Given the description of an element on the screen output the (x, y) to click on. 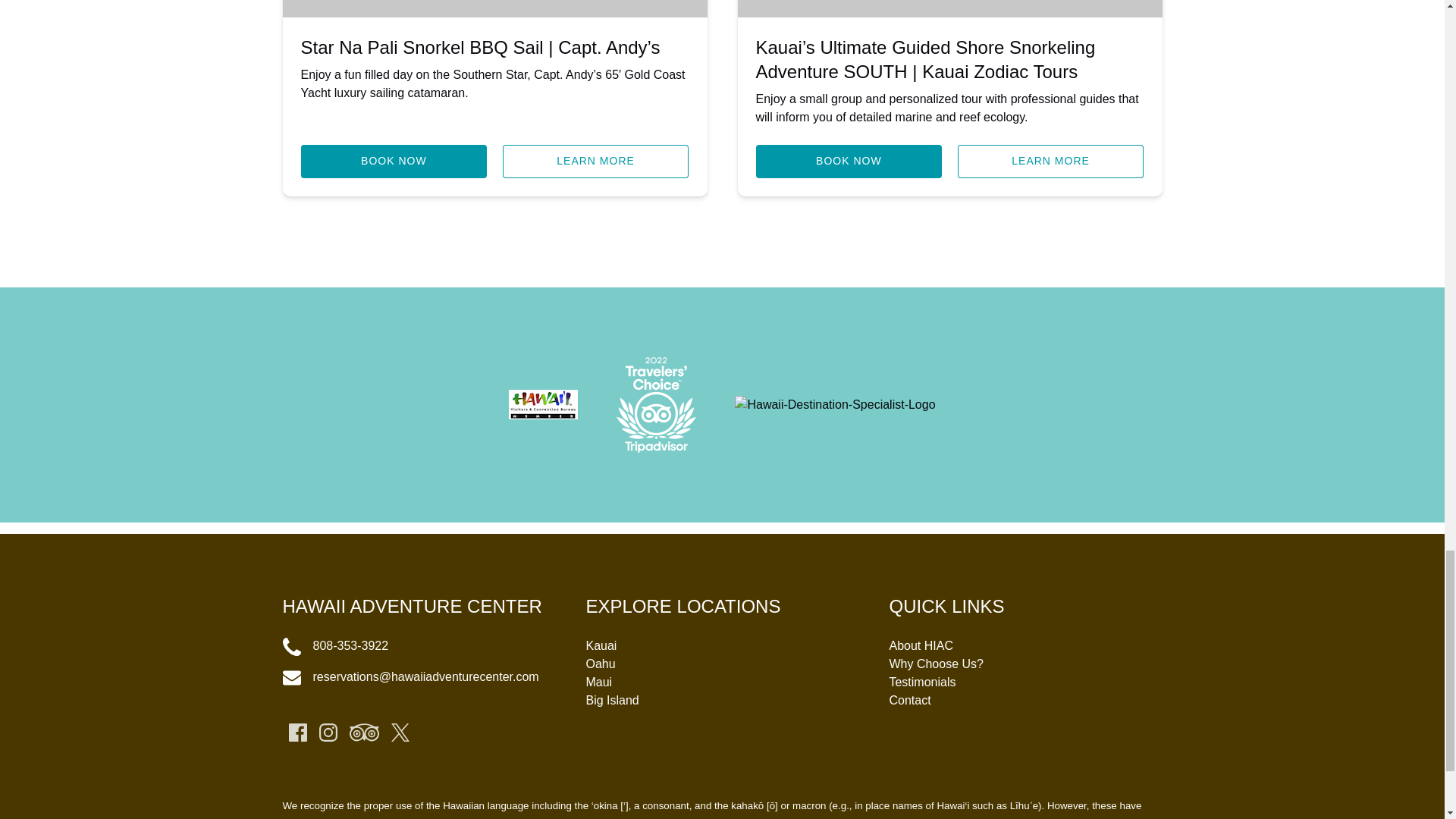
Phone (290, 647)
Envelope (290, 678)
